Given the description of an element on the screen output the (x, y) to click on. 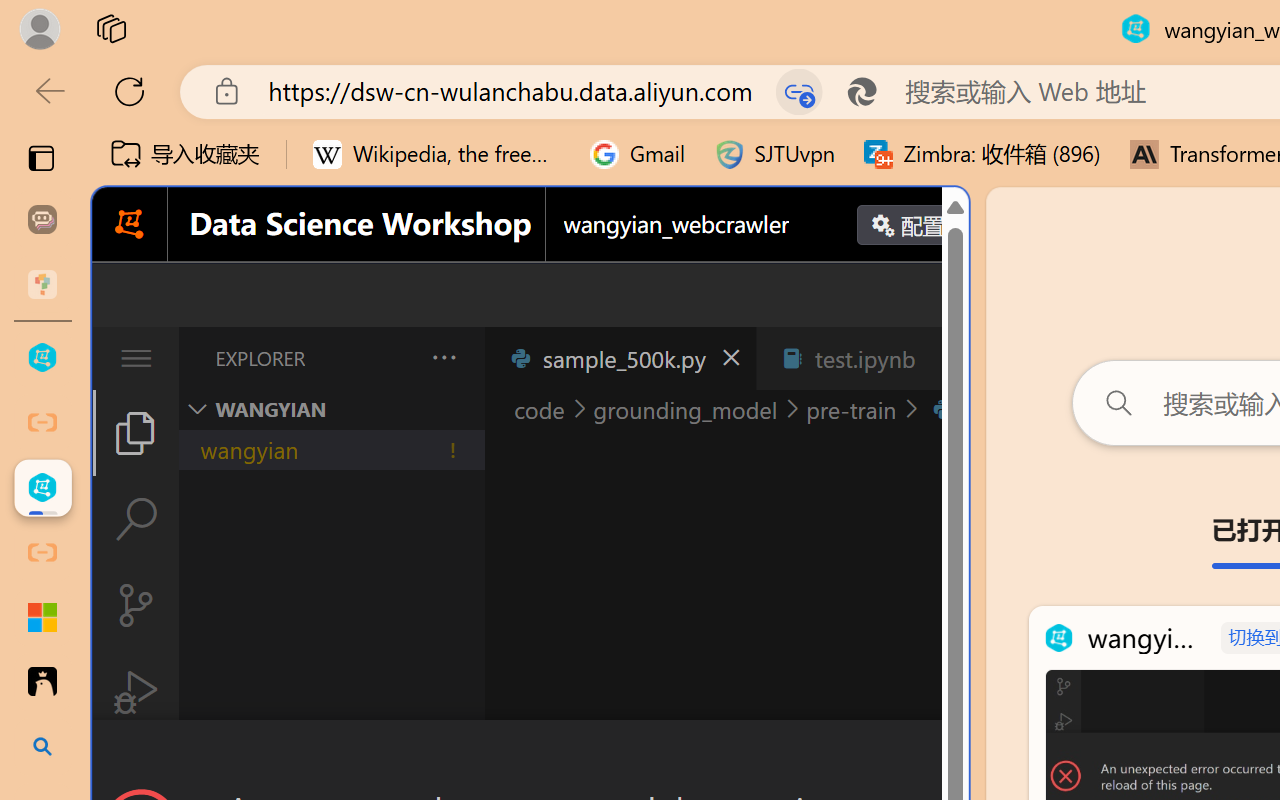
SJTUvpn (774, 154)
Search (Ctrl+Shift+F) (135, 519)
Views and More Actions... (442, 357)
Adjust indents and spacing - Microsoft Support (42, 617)
Gmail (637, 154)
Explorer Section: wangyian (331, 409)
Wikipedia, the free encyclopedia (437, 154)
Application Menu (135, 358)
test.ipynb (864, 358)
Class: menubar compact overflow-menu-only (135, 358)
